Given the description of an element on the screen output the (x, y) to click on. 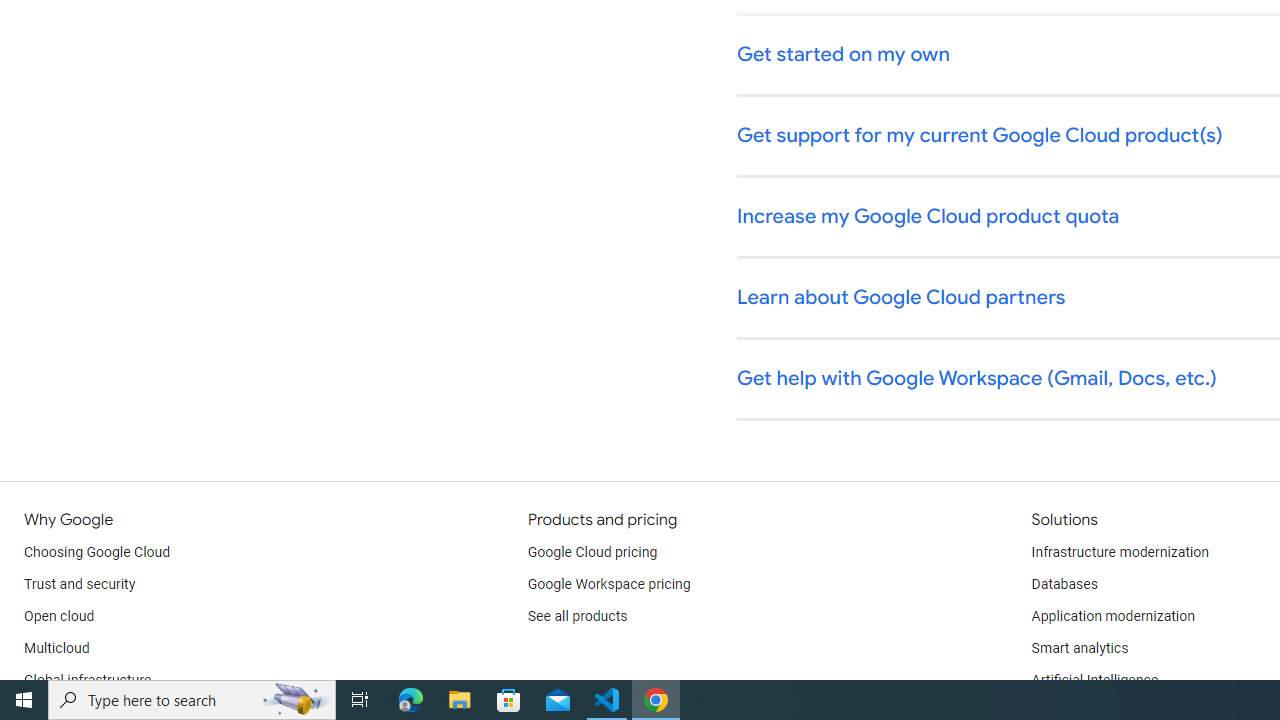
Databases (1064, 584)
Google Workspace pricing (609, 584)
Multicloud (56, 648)
Open cloud (59, 616)
Trust and security (79, 584)
Infrastructure modernization (1119, 552)
Smart analytics (1079, 648)
Artificial Intelligence (1094, 680)
See all products (577, 616)
Application modernization (1112, 616)
Google Cloud pricing (592, 552)
Choosing Google Cloud (97, 552)
Global infrastructure (88, 680)
